Given the description of an element on the screen output the (x, y) to click on. 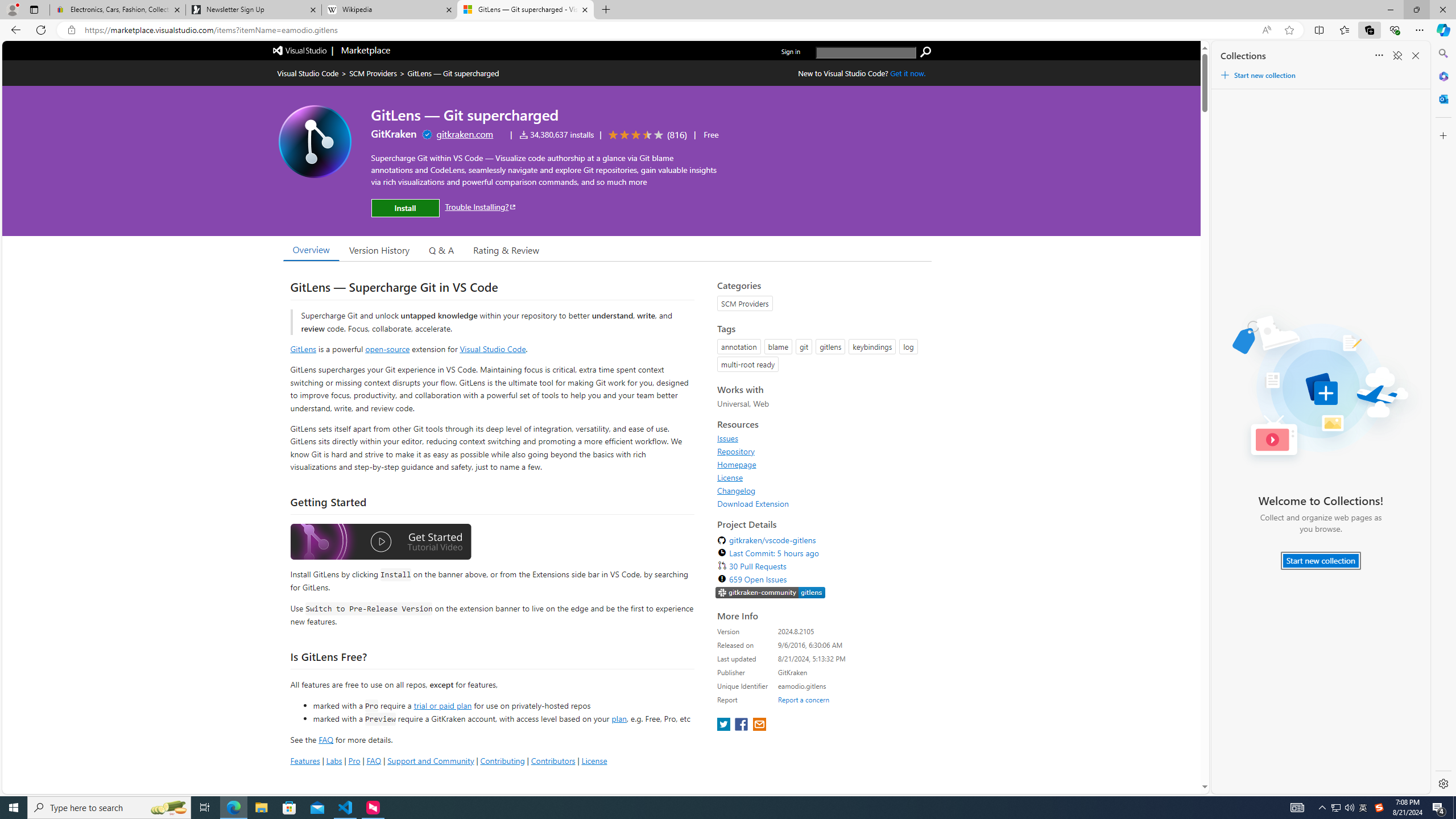
Q & A (441, 249)
share extension on facebook (742, 725)
Labs (334, 760)
open-source (387, 348)
Contributing (502, 760)
Unpin Collections (1397, 55)
share extension on email (759, 725)
